Given the description of an element on the screen output the (x, y) to click on. 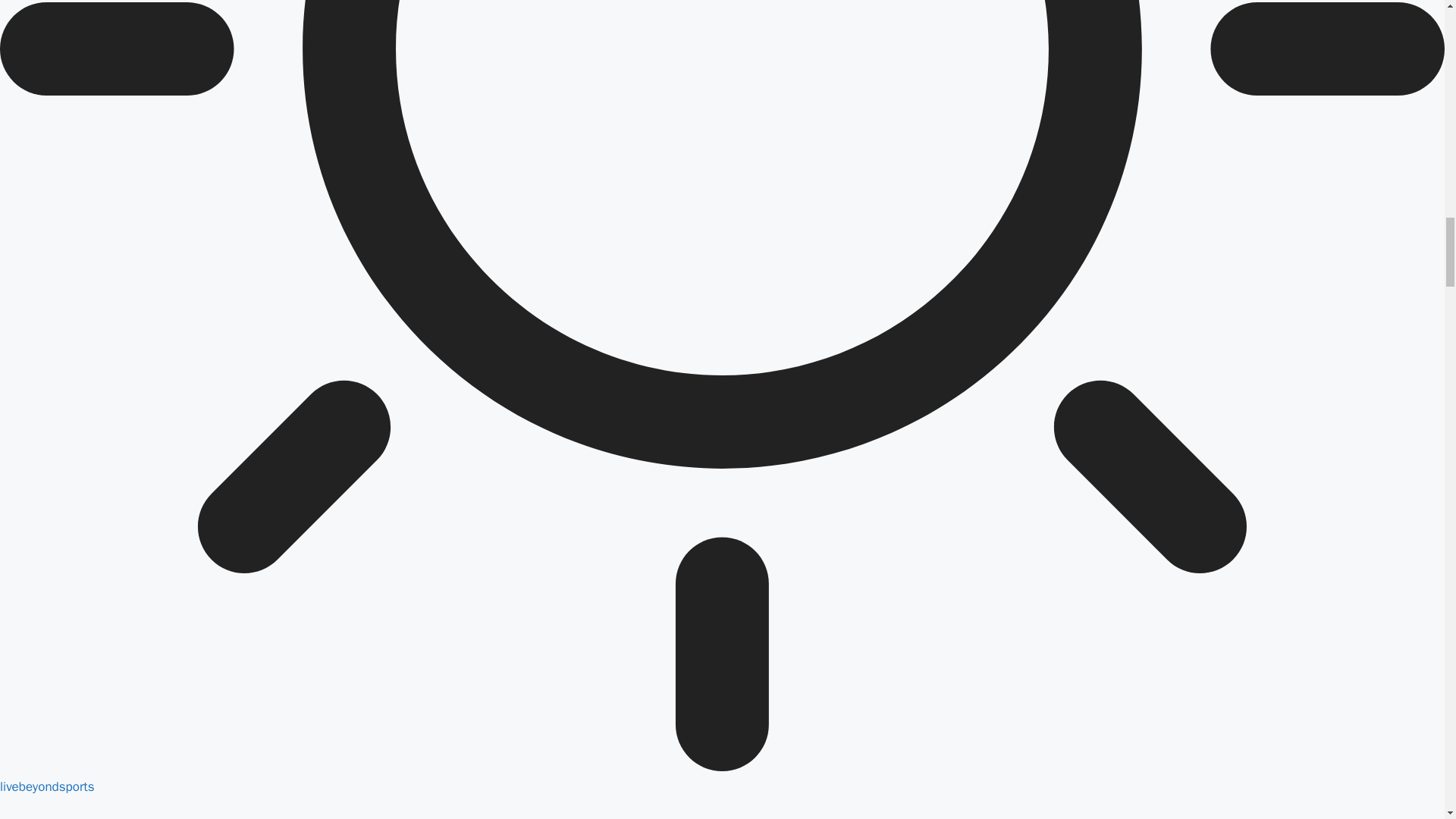
livebeyondsports (47, 785)
livebeyondsports (47, 785)
